Given the description of an element on the screen output the (x, y) to click on. 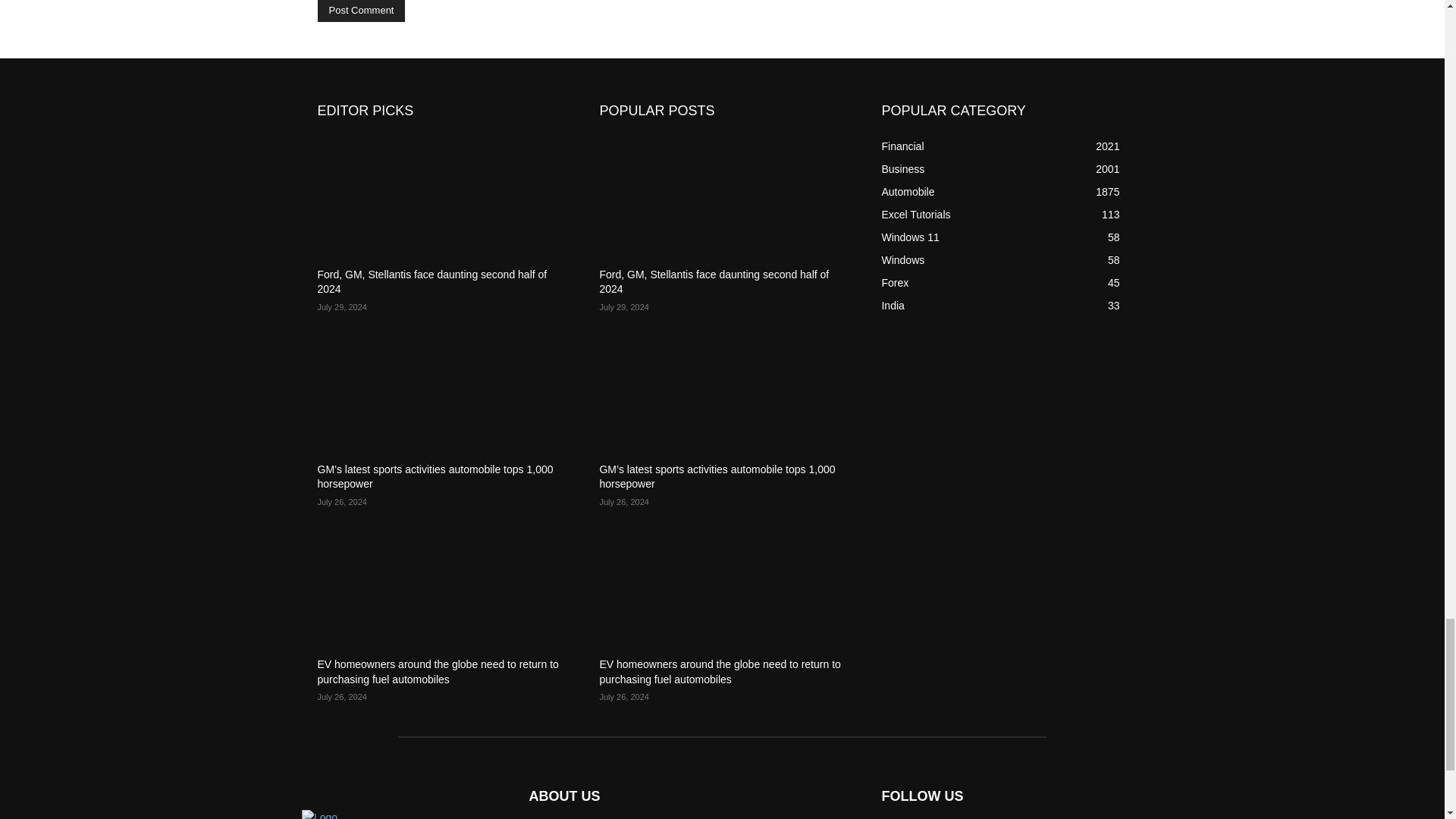
Post Comment (360, 11)
